Given the description of an element on the screen output the (x, y) to click on. 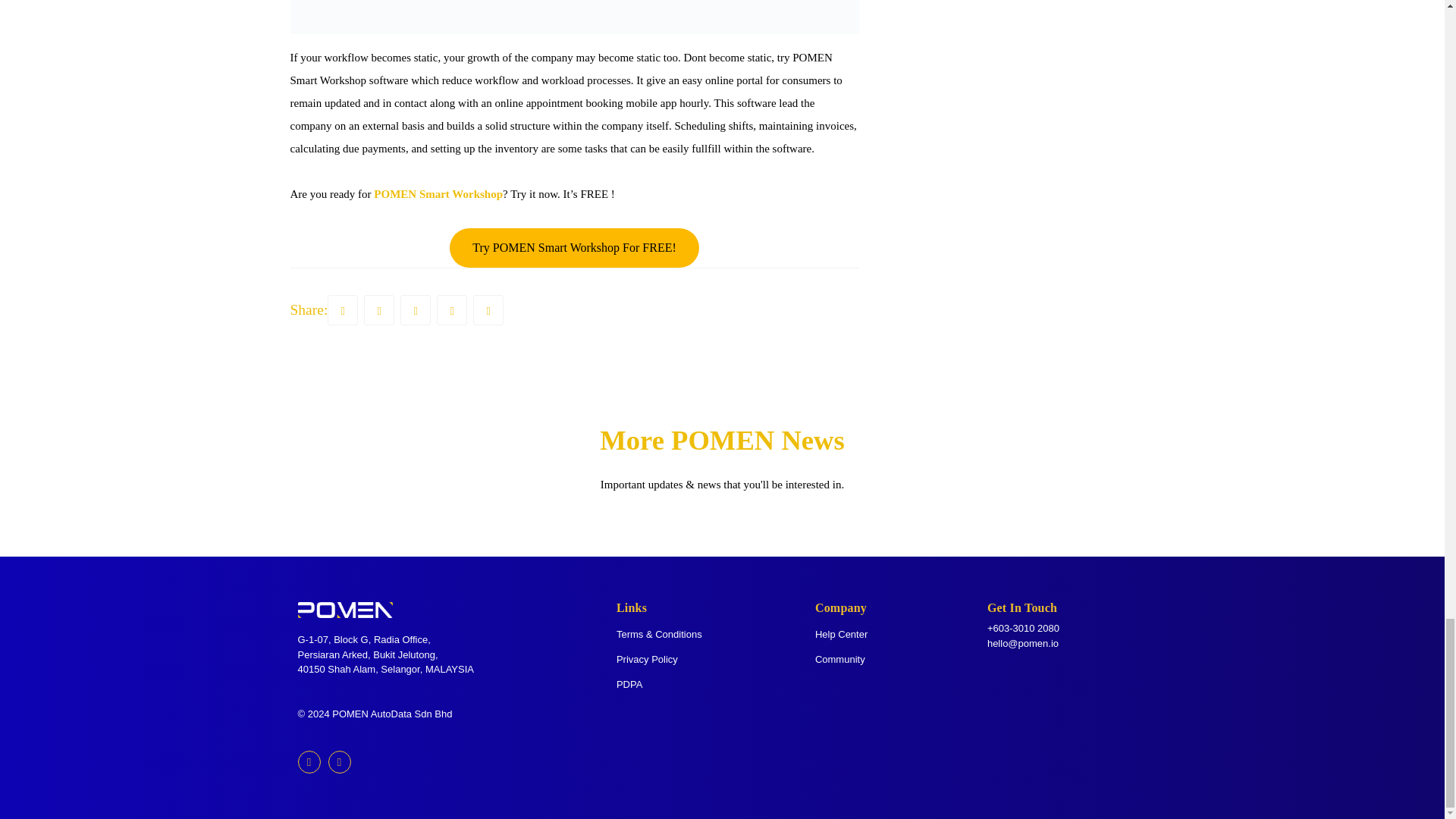
Try POMEN Smart Workshop For FREE! (573, 247)
Smart Workshop (459, 193)
POMEN (395, 193)
